Given the description of an element on the screen output the (x, y) to click on. 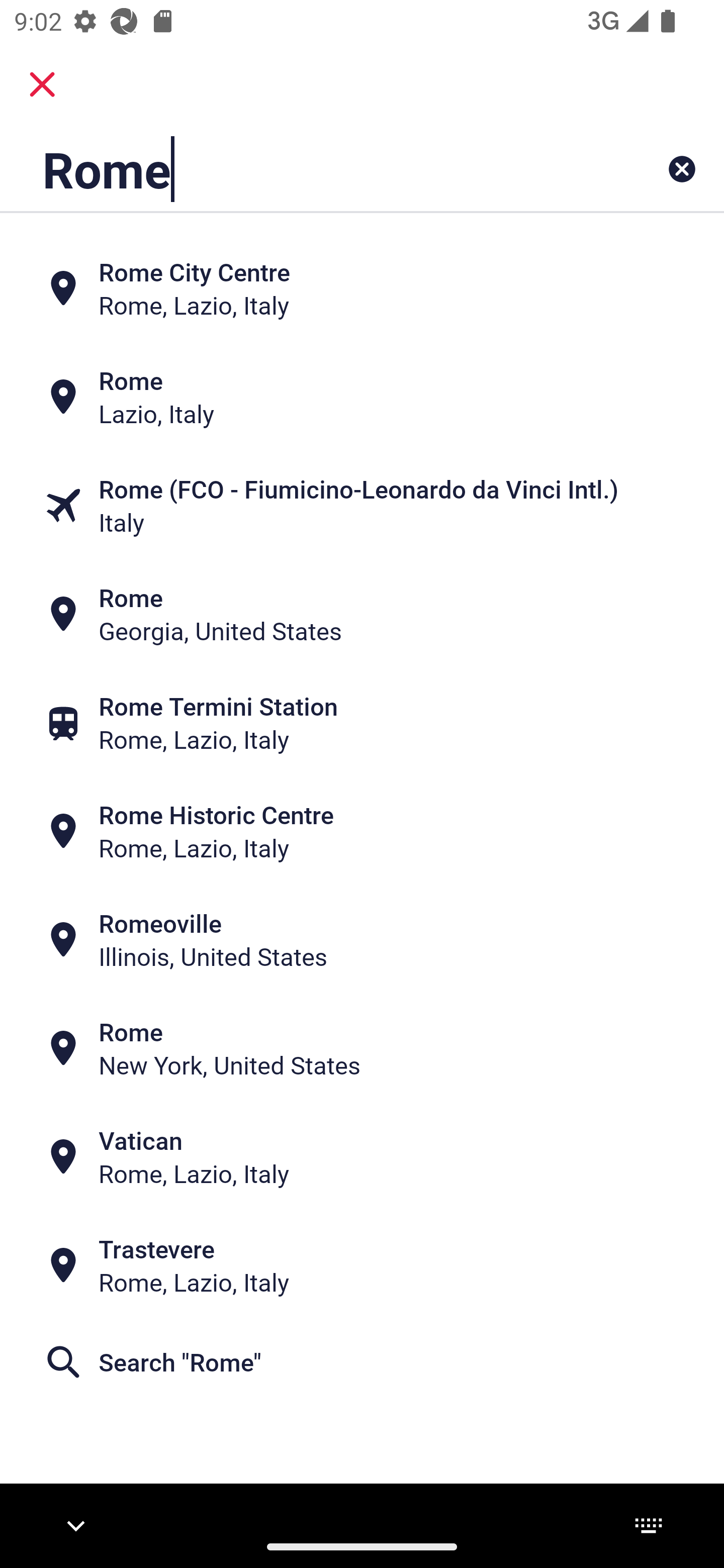
close. (42, 84)
Clear (681, 169)
Rome (298, 169)
Rome City Centre Rome, Lazio, Italy (362, 288)
Rome Lazio, Italy (362, 397)
Rome Georgia, United States (362, 613)
Rome Termini Station Rome, Lazio, Italy (362, 722)
Rome Historic Centre Rome, Lazio, Italy (362, 831)
Romeoville Illinois, United States (362, 939)
Rome New York, United States (362, 1048)
Vatican Rome, Lazio, Italy (362, 1156)
Trastevere Rome, Lazio, Italy (362, 1265)
Search "Rome" (361, 1362)
